Given the description of an element on the screen output the (x, y) to click on. 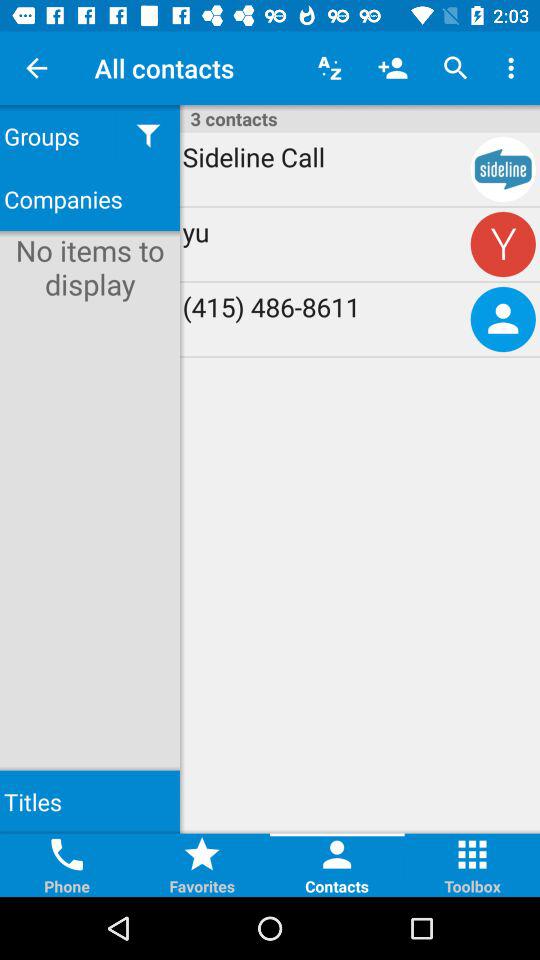
tap the icon above no items to icon (90, 198)
